Given the description of an element on the screen output the (x, y) to click on. 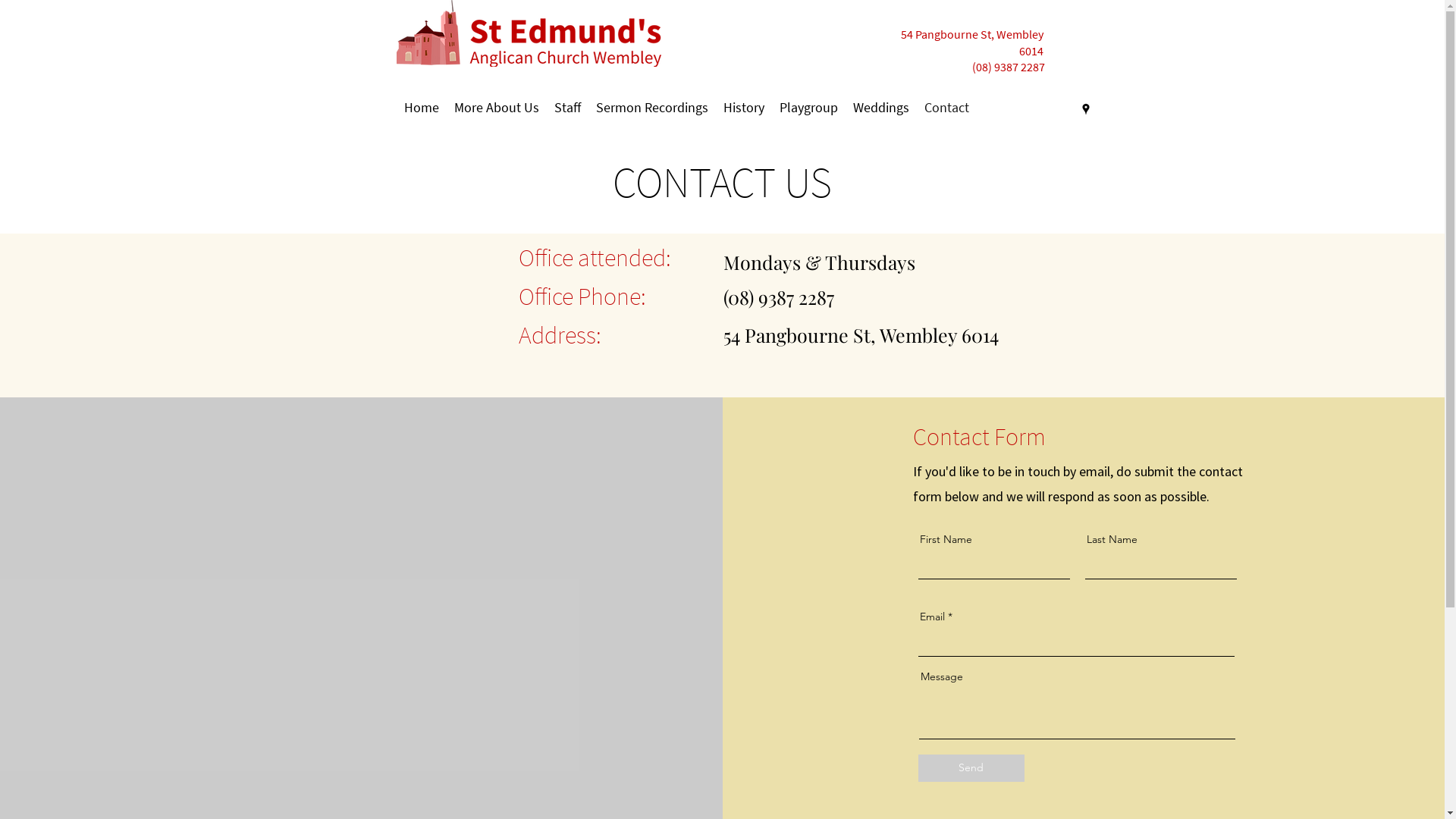
Contact Element type: text (945, 107)
Home Element type: text (420, 107)
Send Element type: text (971, 767)
History Element type: text (743, 107)
Playgroup Element type: text (808, 107)
More About Us Element type: text (495, 107)
Staff Element type: text (566, 107)
Sermon Recordings Element type: text (651, 107)
Weddings Element type: text (880, 107)
